Given the description of an element on the screen output the (x, y) to click on. 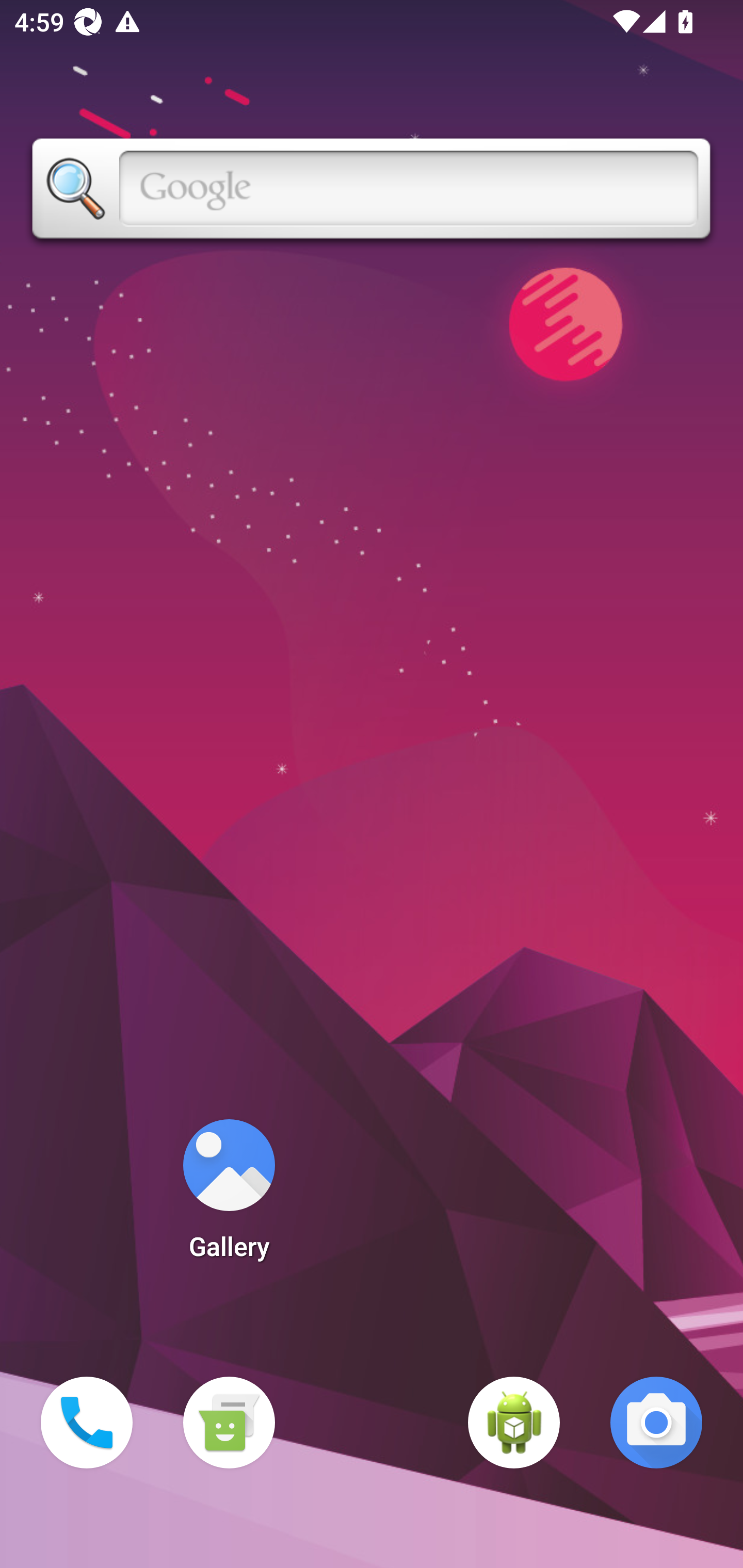
Gallery (228, 1195)
Phone (86, 1422)
Messaging (228, 1422)
WebView Browser Tester (513, 1422)
Camera (656, 1422)
